Given the description of an element on the screen output the (x, y) to click on. 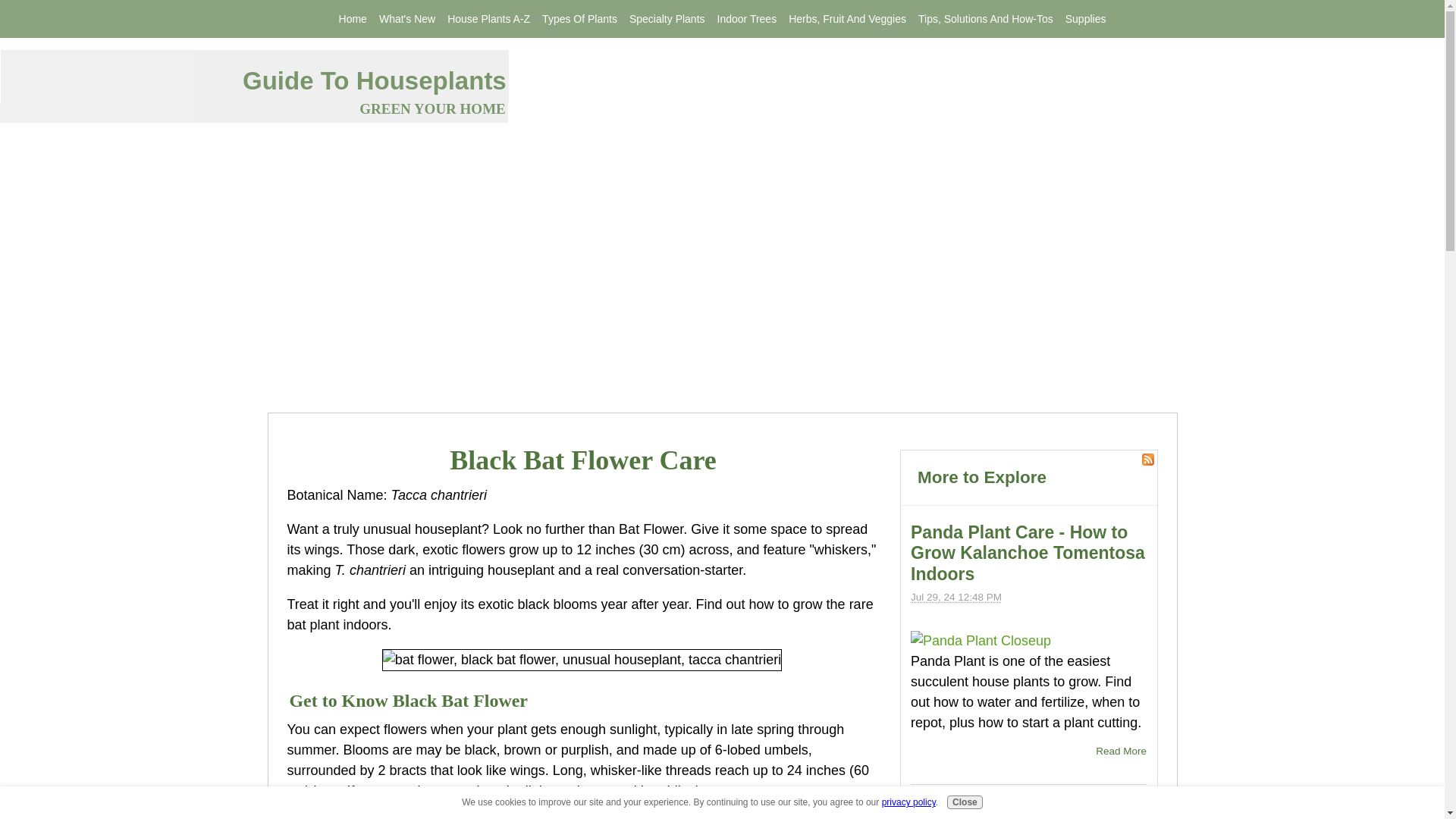
Home (352, 18)
Bat Flower (581, 659)
What'S New (406, 18)
Guide To Houseplants (374, 80)
2024-07-29T12:48:39-0400 (956, 596)
House Plants A-Z (488, 18)
